Given the description of an element on the screen output the (x, y) to click on. 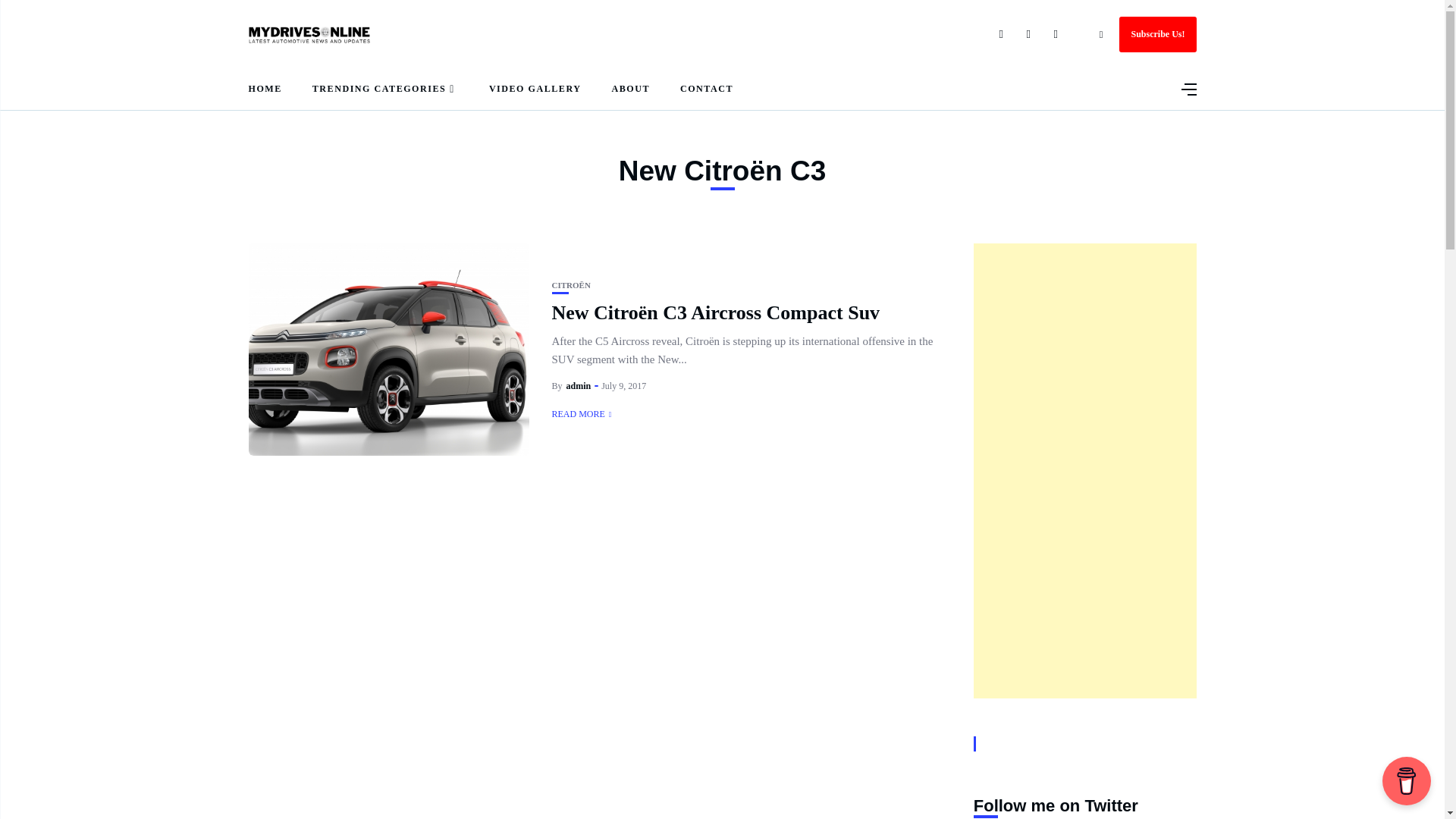
Posts by admin (578, 385)
